Given the description of an element on the screen output the (x, y) to click on. 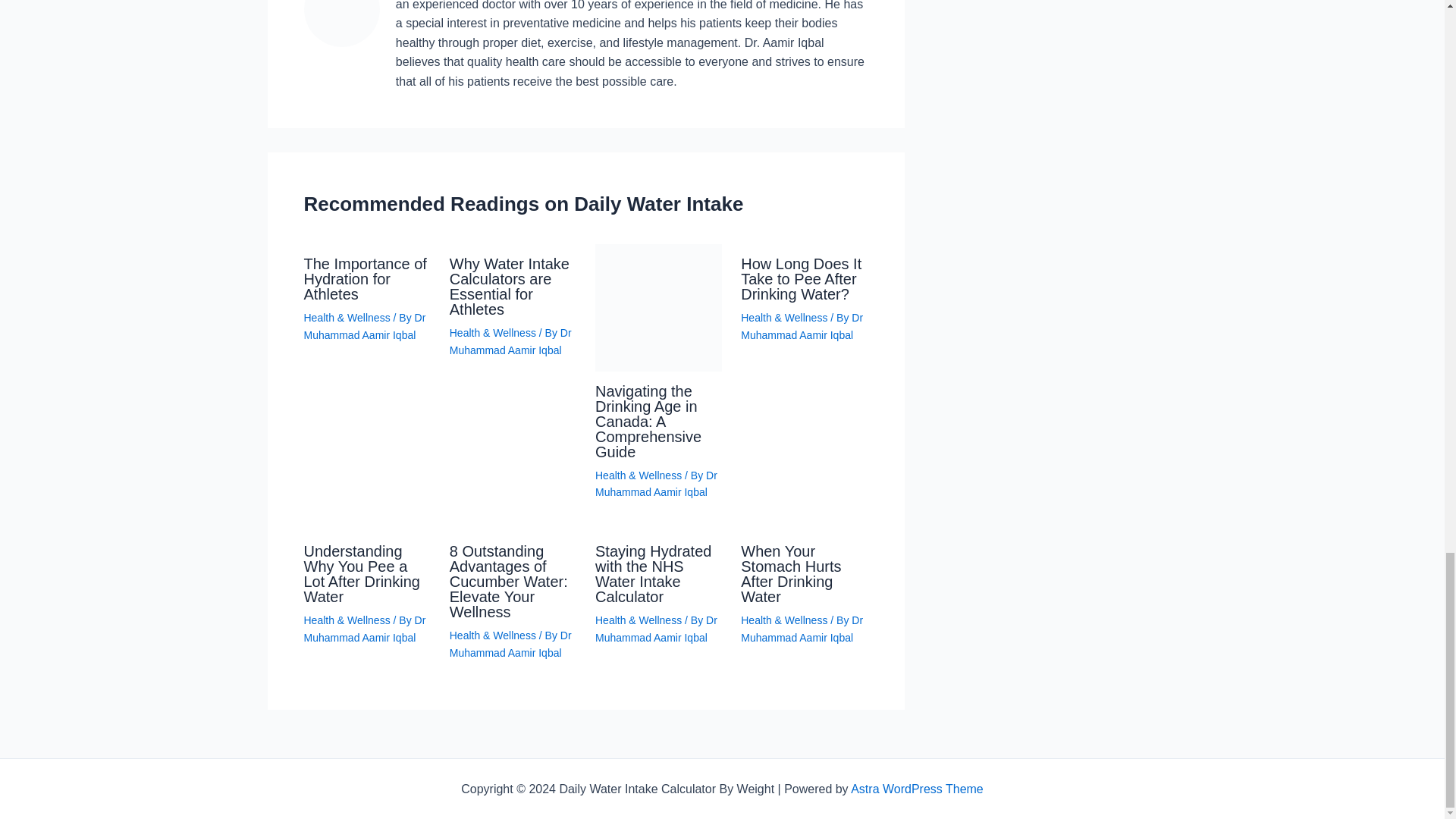
View all posts by Dr Muhammad Aamir Iqbal (802, 628)
View all posts by Dr Muhammad Aamir Iqbal (363, 628)
View all posts by Dr Muhammad Aamir Iqbal (802, 326)
View all posts by Dr Muhammad Aamir Iqbal (510, 340)
View all posts by Dr Muhammad Aamir Iqbal (510, 643)
View all posts by Dr Muhammad Aamir Iqbal (656, 483)
View all posts by Dr Muhammad Aamir Iqbal (656, 628)
View all posts by Dr Muhammad Aamir Iqbal (363, 326)
